Given the description of an element on the screen output the (x, y) to click on. 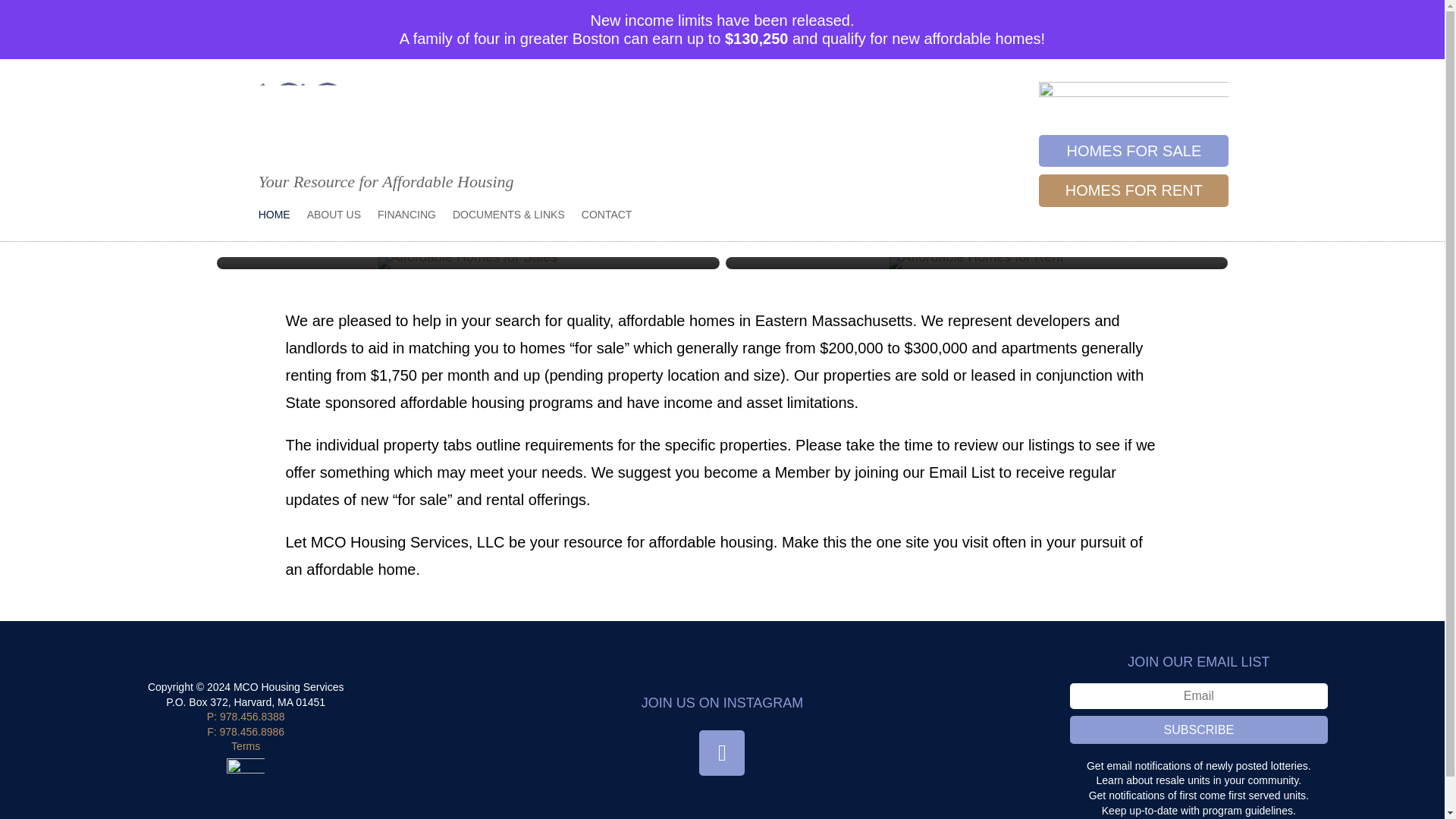
Follow on Instagram (721, 752)
P: 978.456.8388 (245, 716)
ABOUT US (334, 217)
Terms (245, 746)
CONTACT (605, 217)
Affordable Homes for Rent (975, 263)
HOME (274, 217)
Affordable Homes for Sales (467, 263)
FINANCING (406, 217)
SUBSCRIBE (1198, 729)
